Given the description of an element on the screen output the (x, y) to click on. 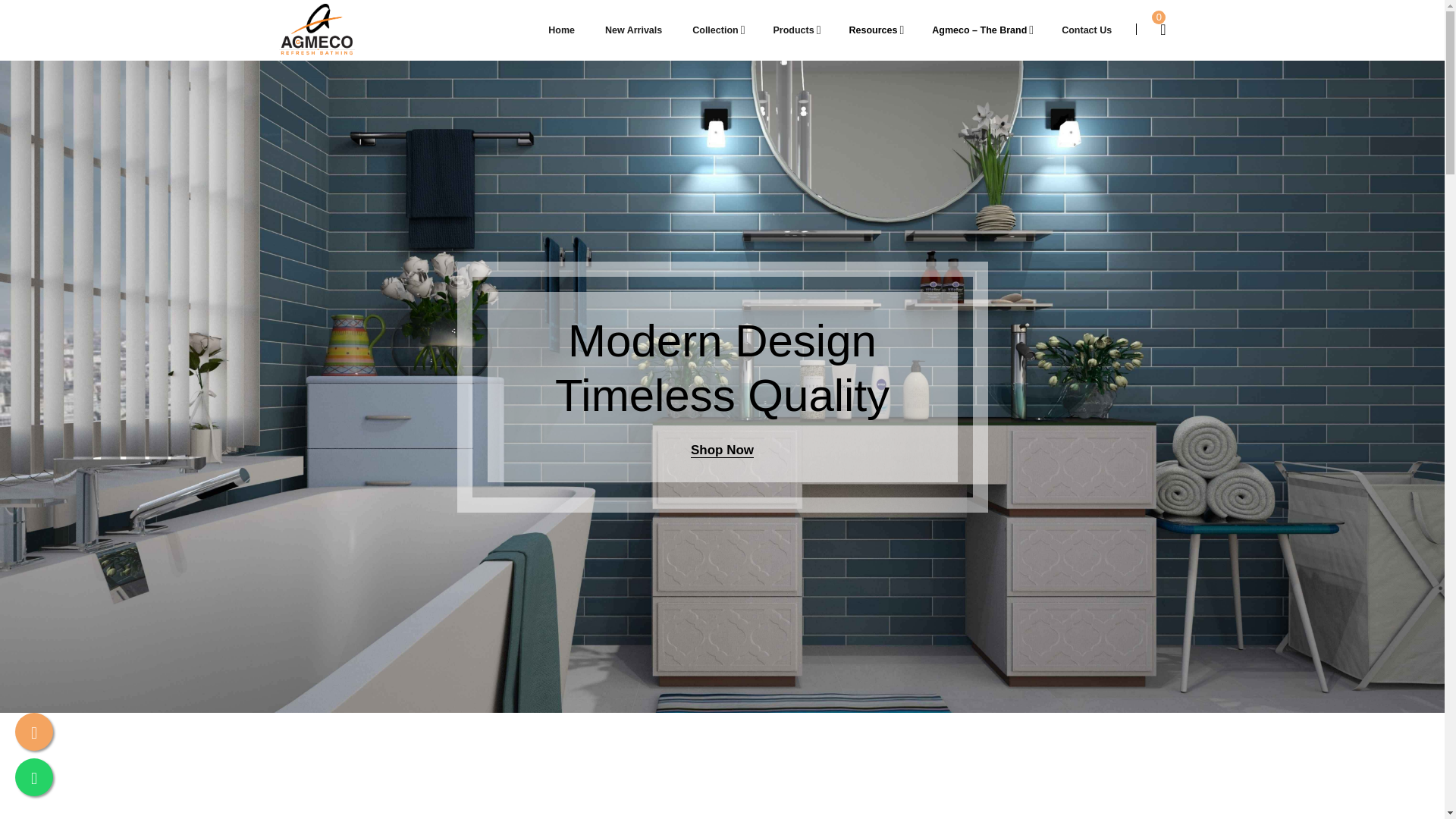
Collection (717, 30)
New Arrivals (633, 30)
Products (795, 30)
Home (561, 30)
